Given the description of an element on the screen output the (x, y) to click on. 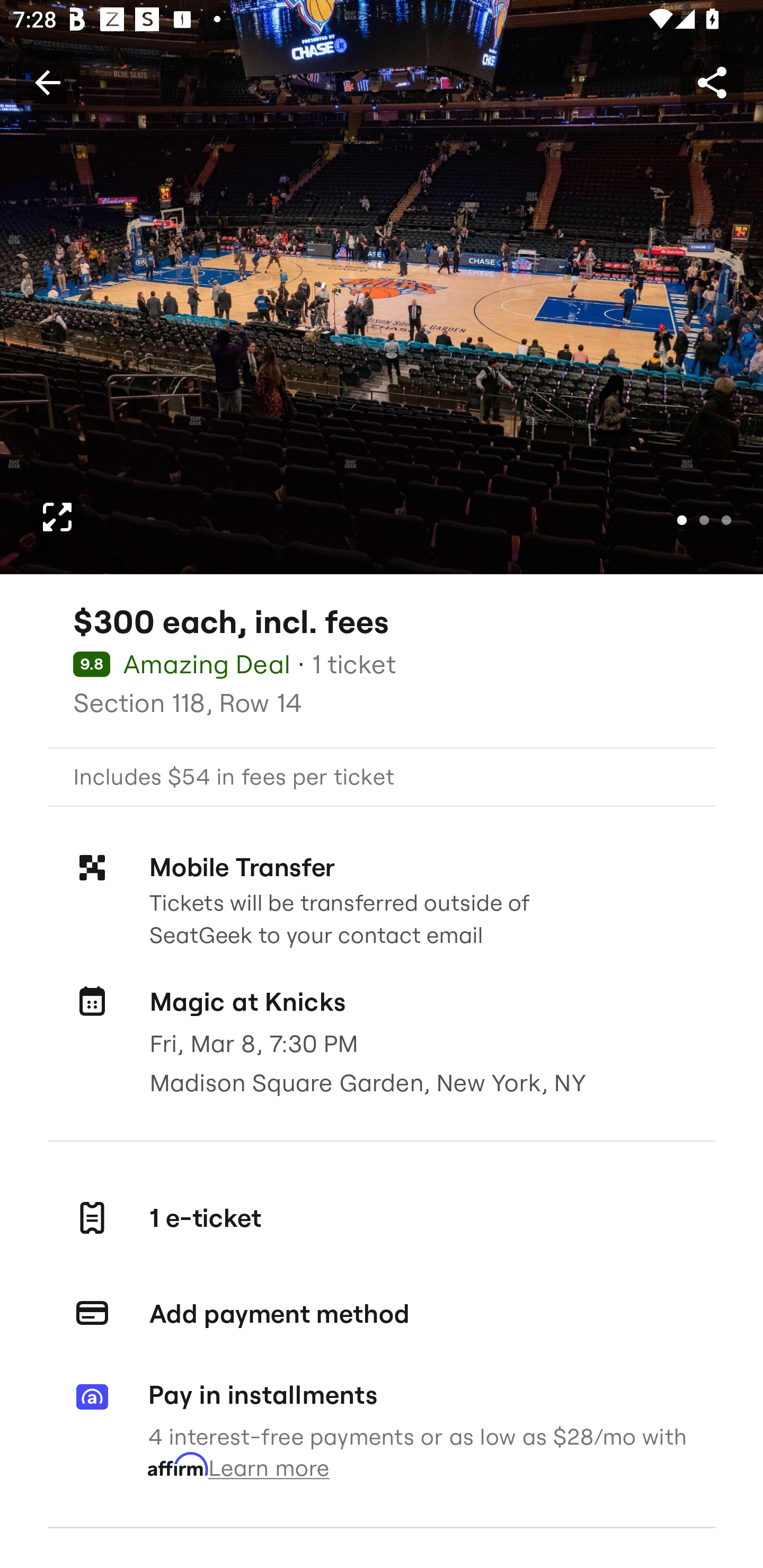
Back (47, 81)
Share (711, 81)
Expand image to fullscreen (57, 517)
1 e-ticket (381, 1217)
Add payment method (381, 1313)
